Given the description of an element on the screen output the (x, y) to click on. 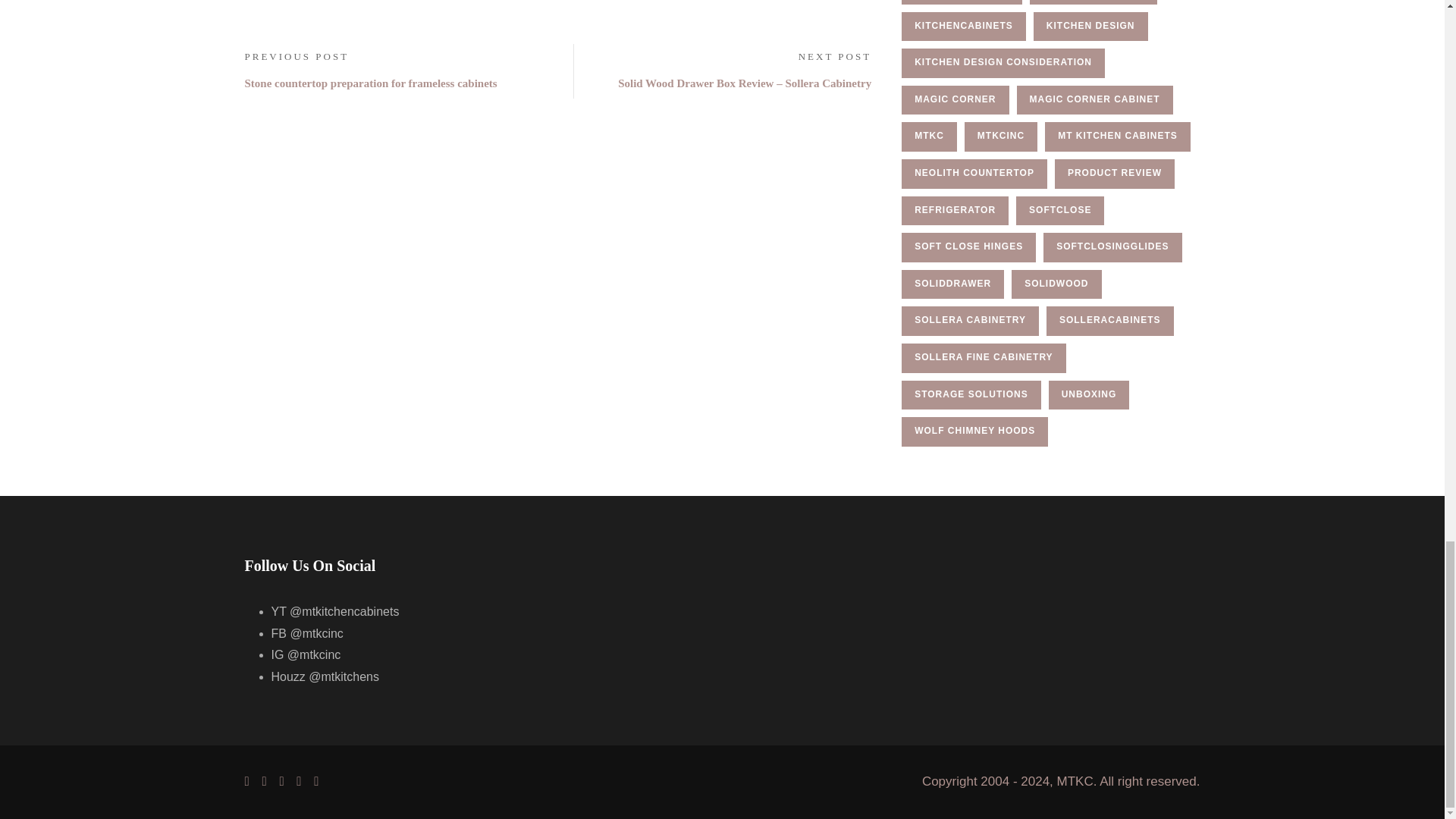
Stone countertop preparation for frameless cabinets (370, 83)
